Given the description of an element on the screen output the (x, y) to click on. 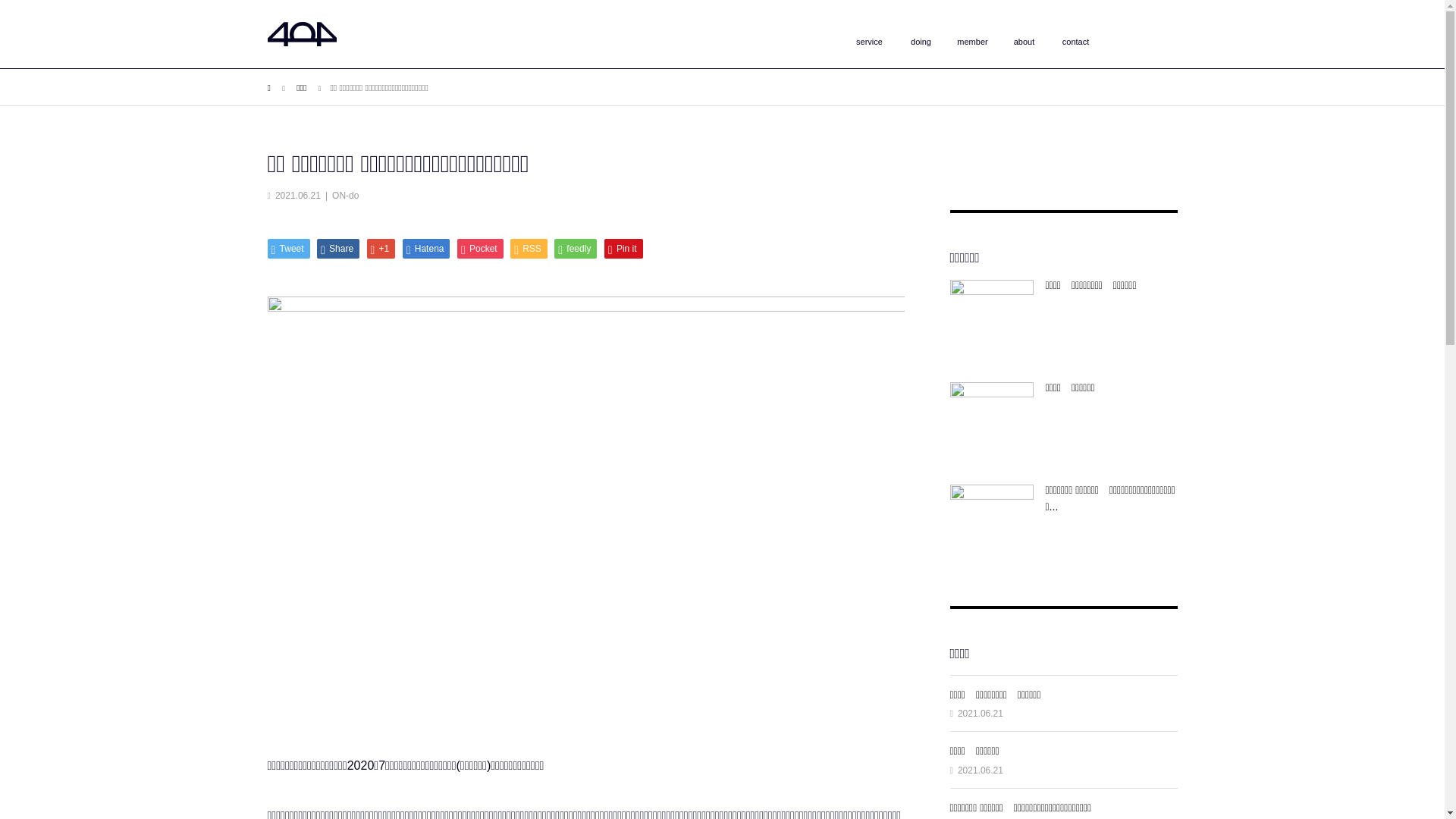
ON-do Element type: text (345, 195)
Hatena Element type: text (426, 248)
contact Element type: text (1075, 41)
+1 Element type: text (381, 248)
member Element type: text (971, 41)
about Element type: text (1023, 41)
Share Element type: text (337, 248)
service Element type: text (868, 41)
Tweet Element type: text (287, 248)
doing Element type: text (920, 41)
RSS Element type: text (528, 248)
Pocket Element type: text (480, 248)
Pin it Element type: text (623, 248)
feedly Element type: text (575, 248)
